Given the description of an element on the screen output the (x, y) to click on. 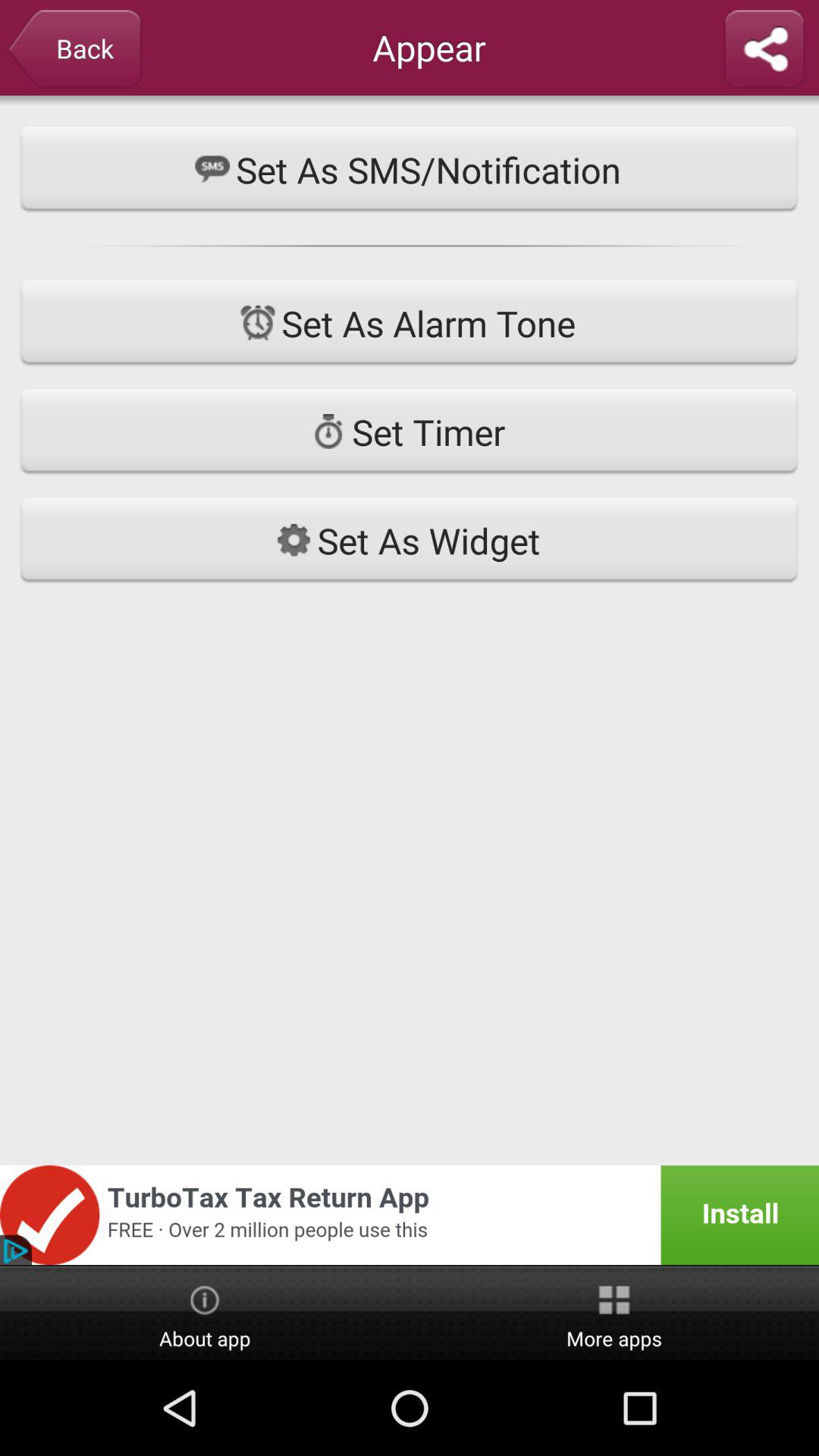
advertisement page (409, 1214)
